Given the description of an element on the screen output the (x, y) to click on. 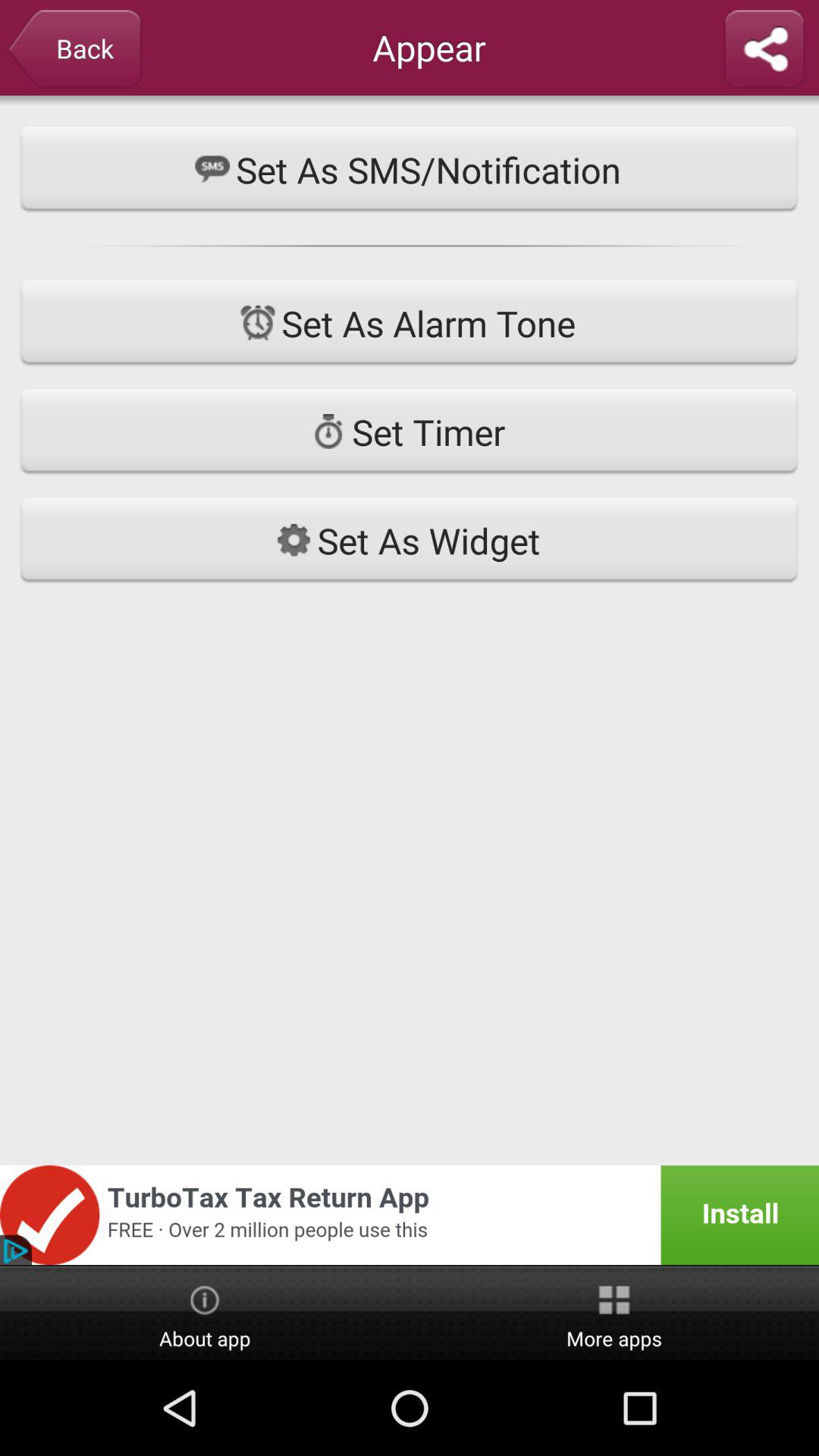
advertisement page (409, 1214)
